Given the description of an element on the screen output the (x, y) to click on. 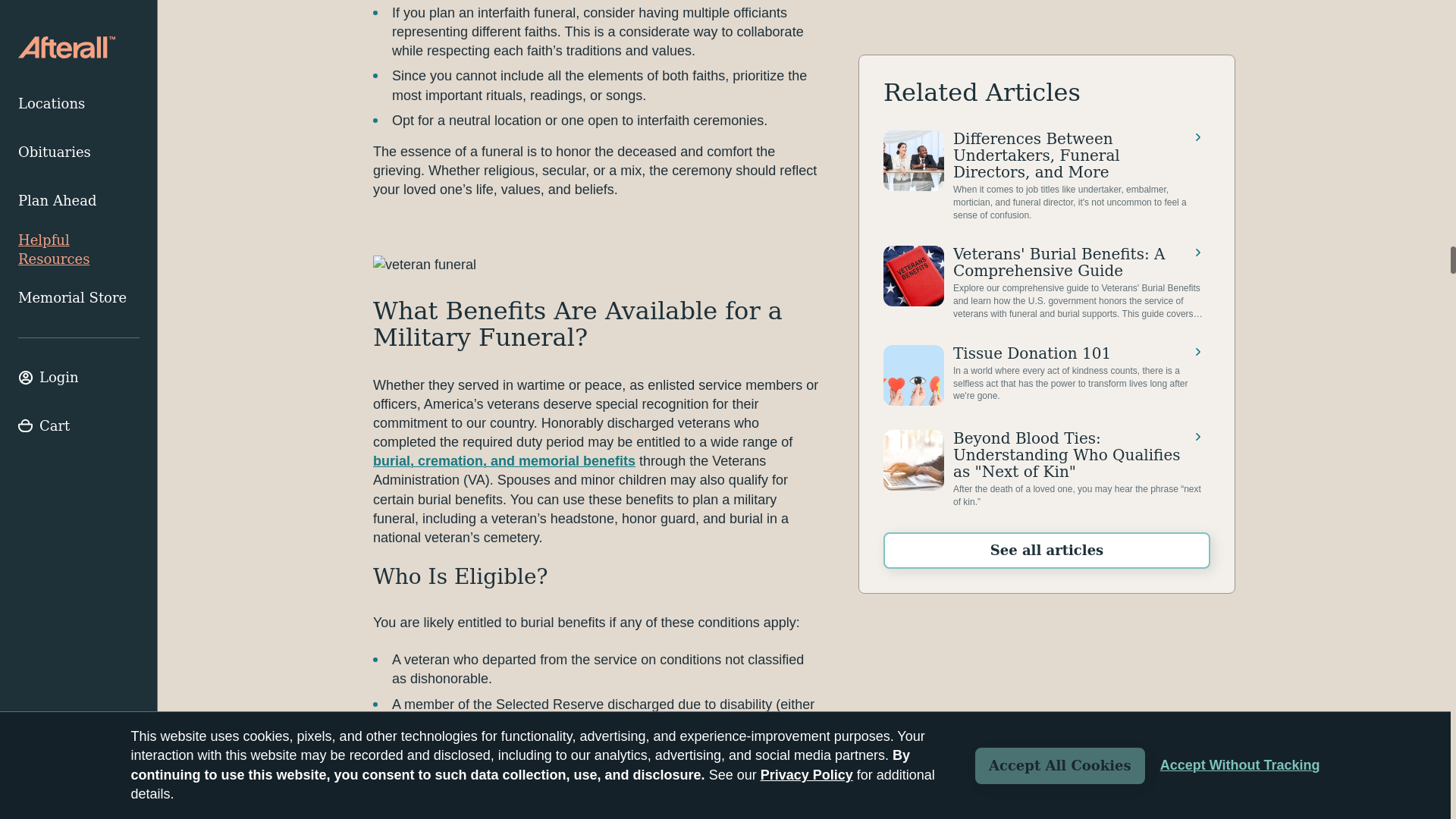
burial, cremation, and memorial benefits (503, 460)
